Given the description of an element on the screen output the (x, y) to click on. 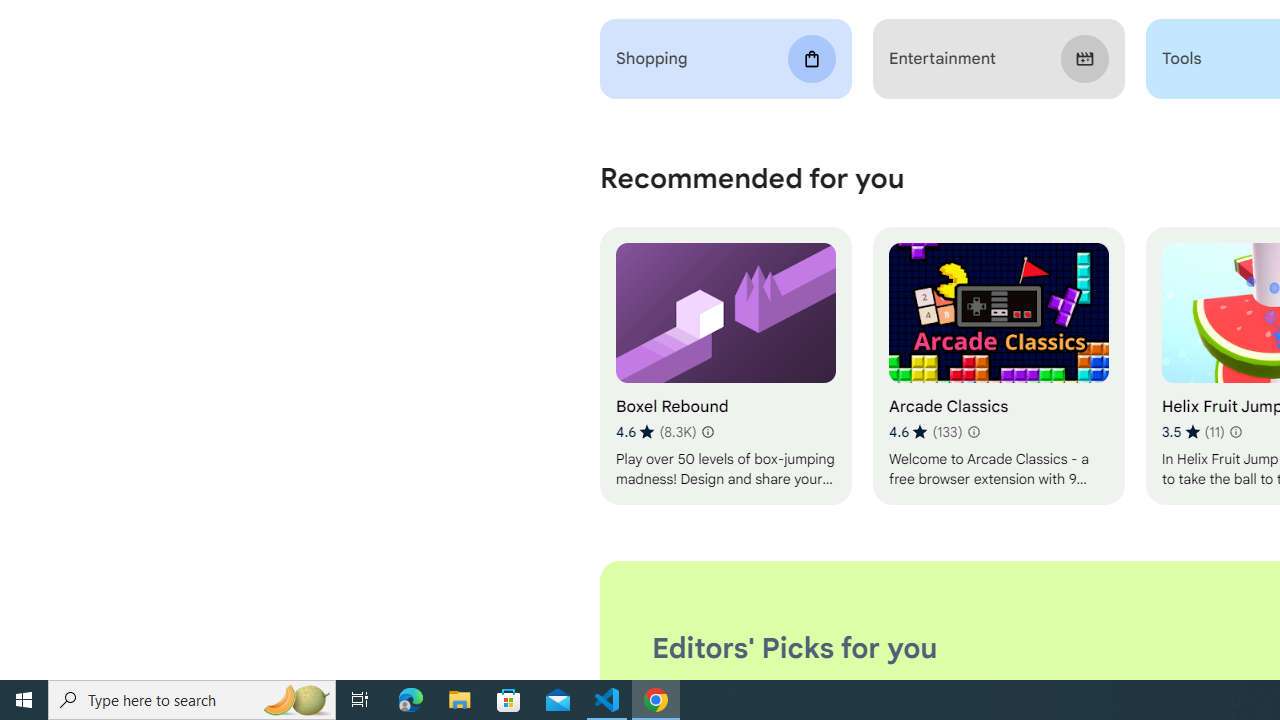
Average rating 3.5 out of 5 stars. 11 ratings. (1192, 431)
Arcade Classics (998, 366)
Average rating 4.6 out of 5 stars. 133 ratings. (925, 431)
Average rating 4.6 out of 5 stars. 8.3K ratings. (655, 431)
Entertainment (998, 59)
Learn more about results and reviews "Arcade Classics" (972, 431)
Learn more about results and reviews "Boxel Rebound" (707, 431)
Shopping (725, 59)
Boxel Rebound (725, 366)
